Given the description of an element on the screen output the (x, y) to click on. 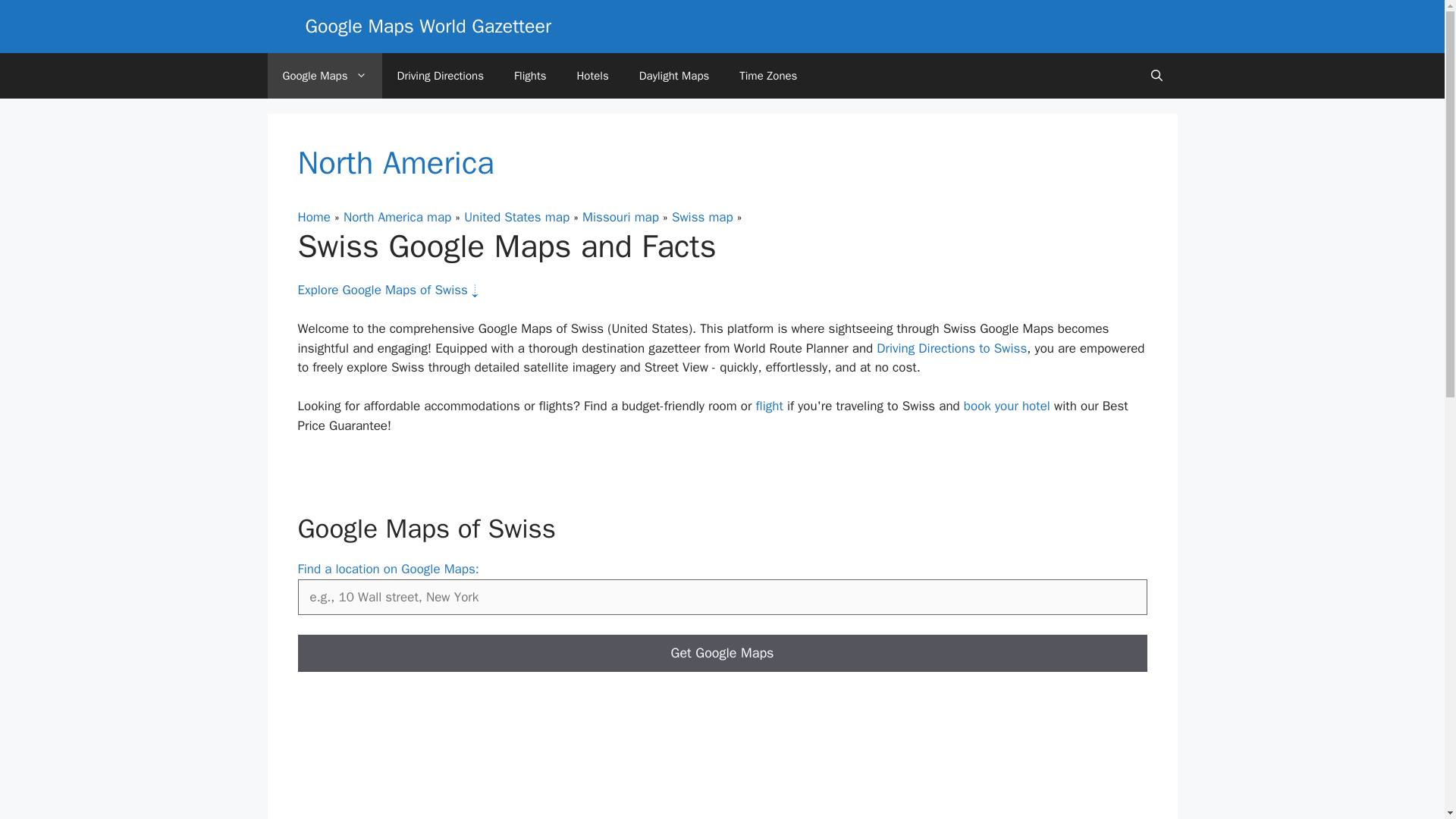
Swiss map (702, 217)
Driving Directions to Swiss (951, 348)
flight (769, 406)
Driving Directions (440, 75)
Get Google Maps (722, 652)
book your hotel (1006, 406)
Daylight Maps of the World (674, 75)
Google Maps World Gazetteer (323, 75)
Flights (530, 75)
Home (313, 217)
